Given the description of an element on the screen output the (x, y) to click on. 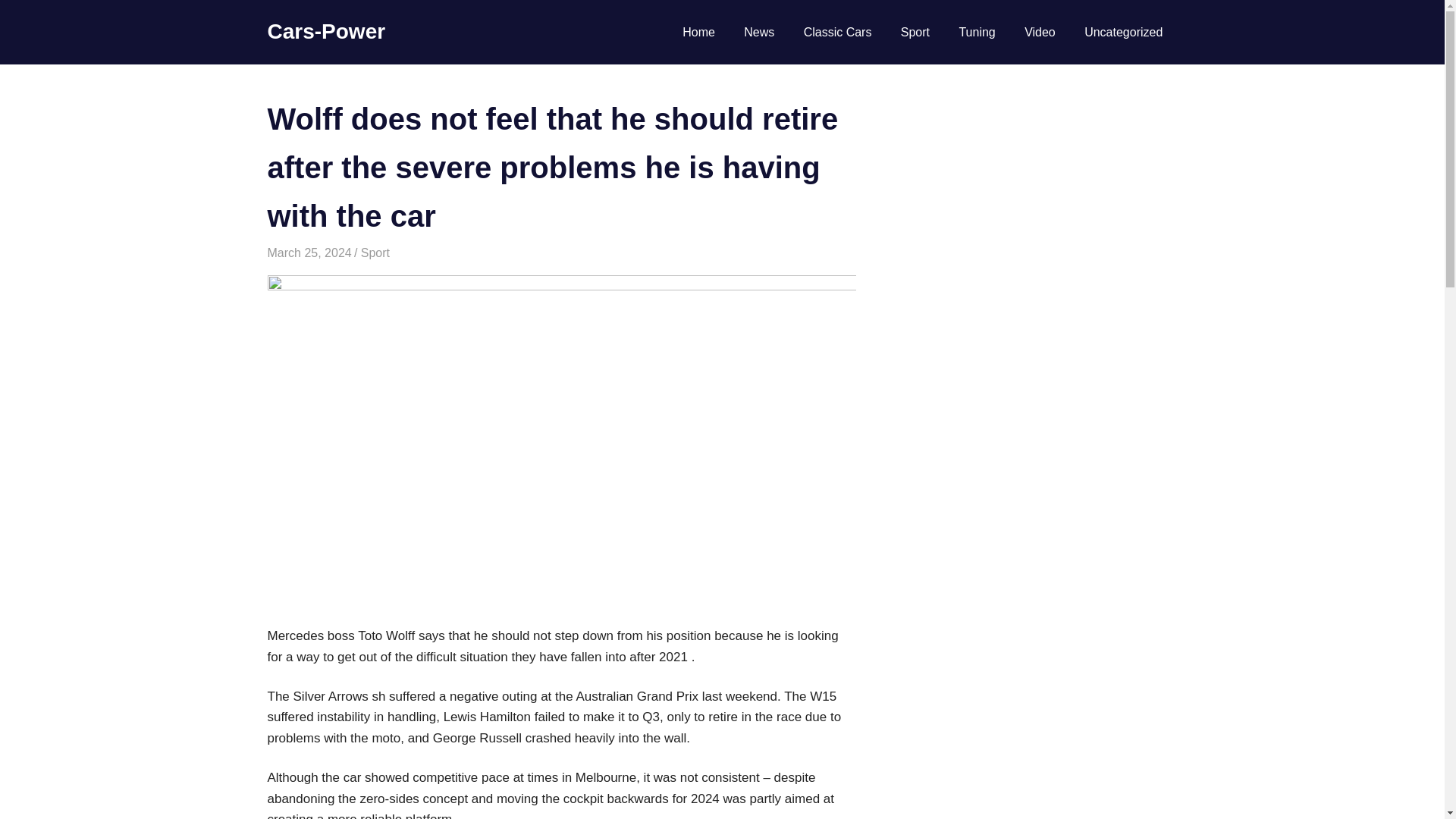
Uncategorized (1123, 32)
Classic Cars (837, 32)
Video (1040, 32)
Sport (915, 32)
cars-power.com (399, 252)
Tuning (976, 32)
View all posts by cars-power.com (399, 252)
4:31 pm (308, 252)
March 25, 2024 (308, 252)
Cars-Power (325, 31)
